Given the description of an element on the screen output the (x, y) to click on. 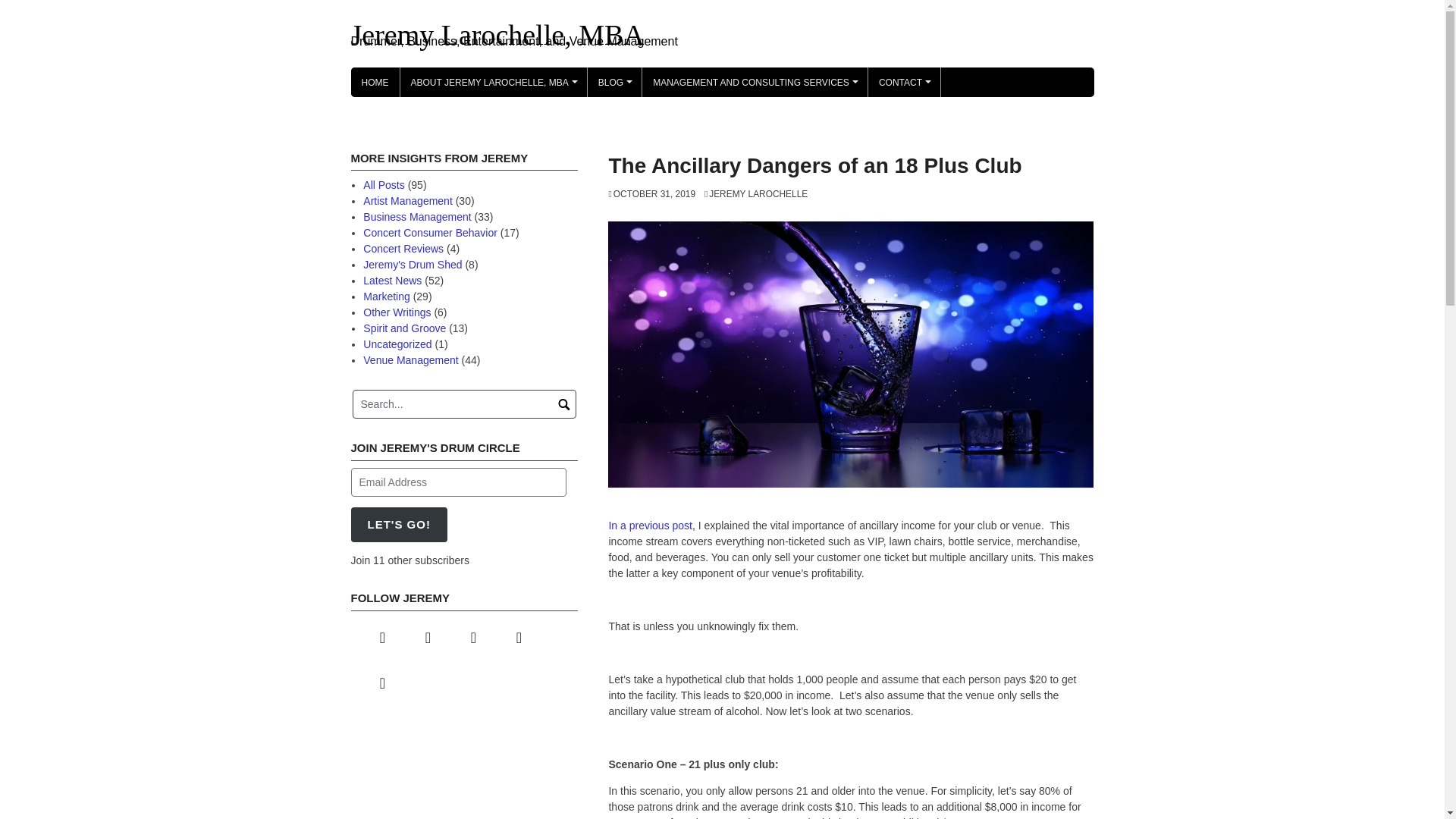
OCTOBER 31, 2019 (651, 194)
In a previous post (650, 525)
Search for: (464, 403)
Jeremy Larochelle, MBA (496, 34)
HOME (374, 82)
JEREMY LAROCHELLE (756, 194)
